Given the description of an element on the screen output the (x, y) to click on. 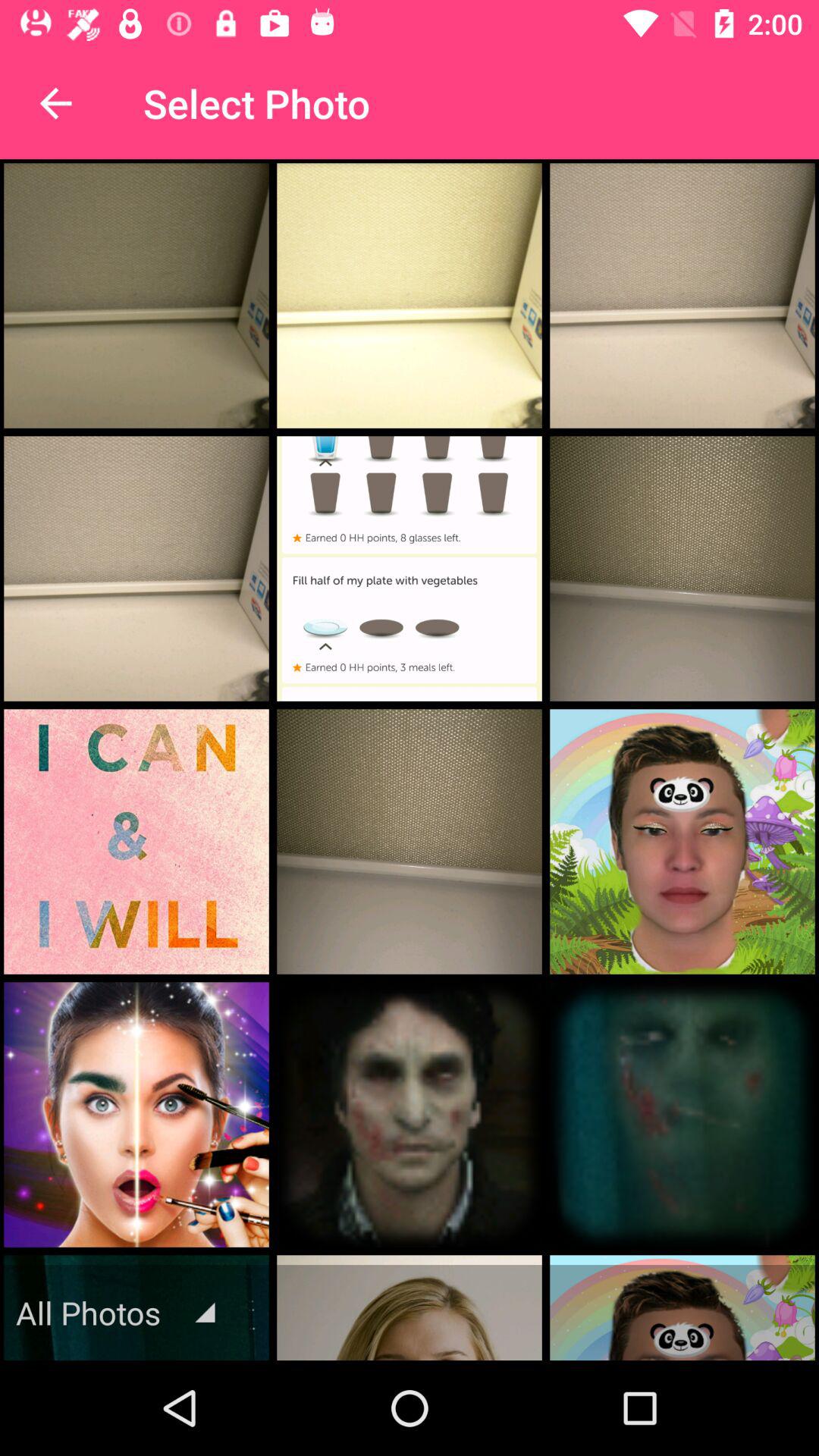
turn on the item to the left of the select photo item (55, 103)
